Given the description of an element on the screen output the (x, y) to click on. 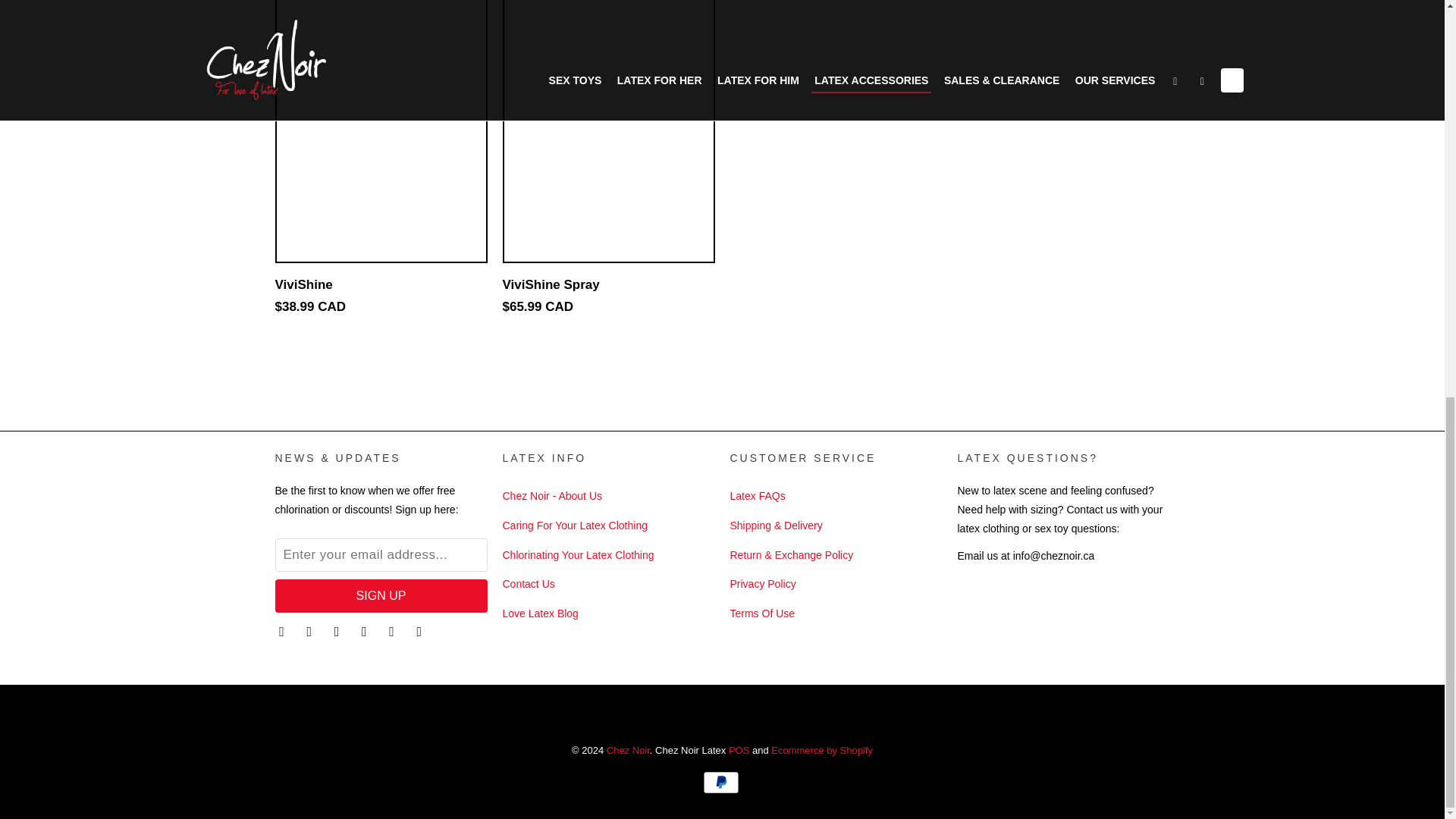
Chez Noir on Twitter (283, 630)
Chez Noir on Instagram (392, 630)
PayPal (721, 782)
Email Chez Noir (420, 630)
Chez Noir on YouTube (338, 630)
Sign Up (380, 595)
Chez Noir on Facebook (310, 630)
Chez Noir on Pinterest (365, 630)
